Given the description of an element on the screen output the (x, y) to click on. 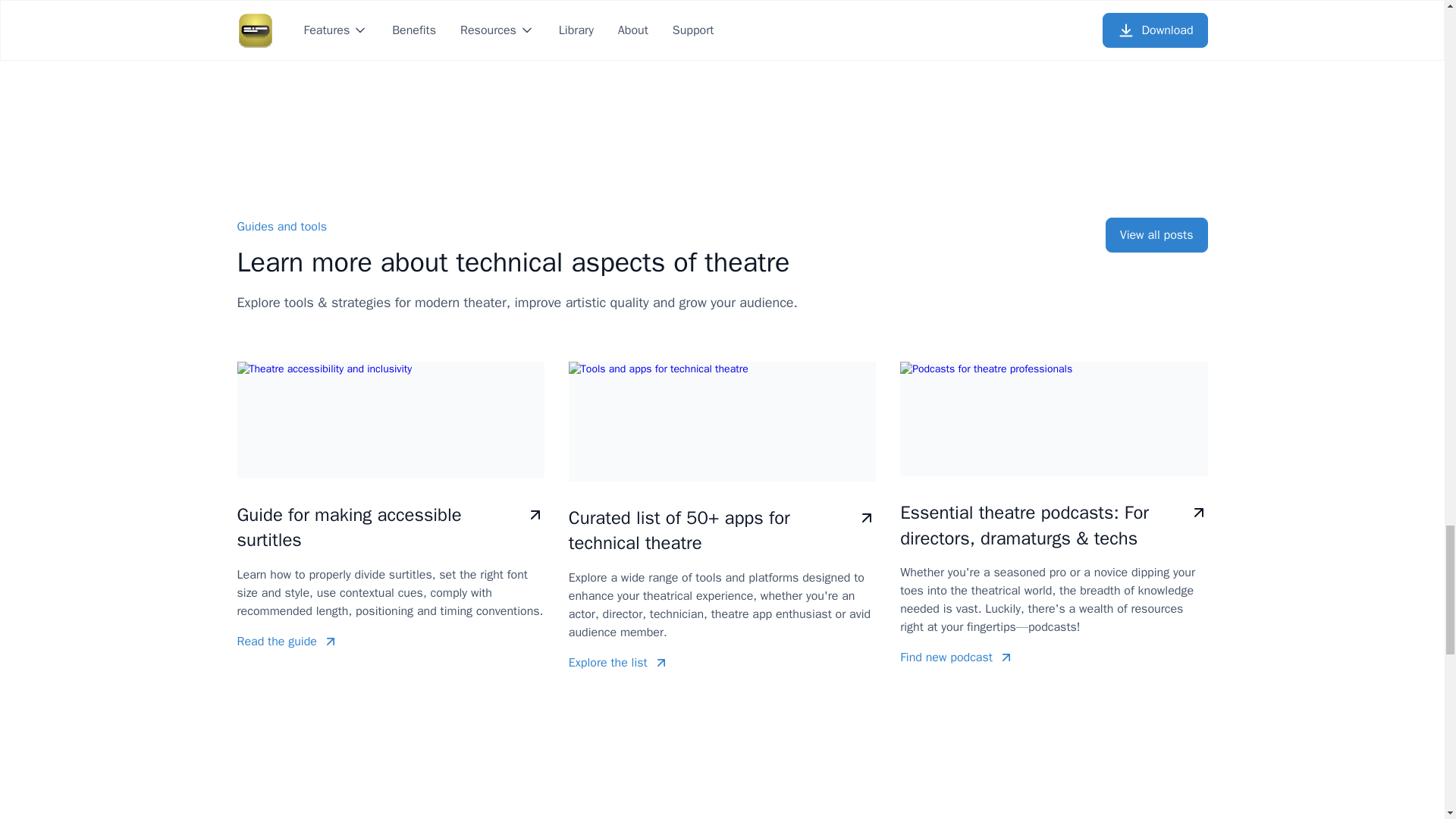
Find new podcast (1053, 657)
Explore the list (722, 662)
Read the guide (389, 641)
Guide for making accessible surtitles (389, 527)
View all posts (1156, 234)
